Given the description of an element on the screen output the (x, y) to click on. 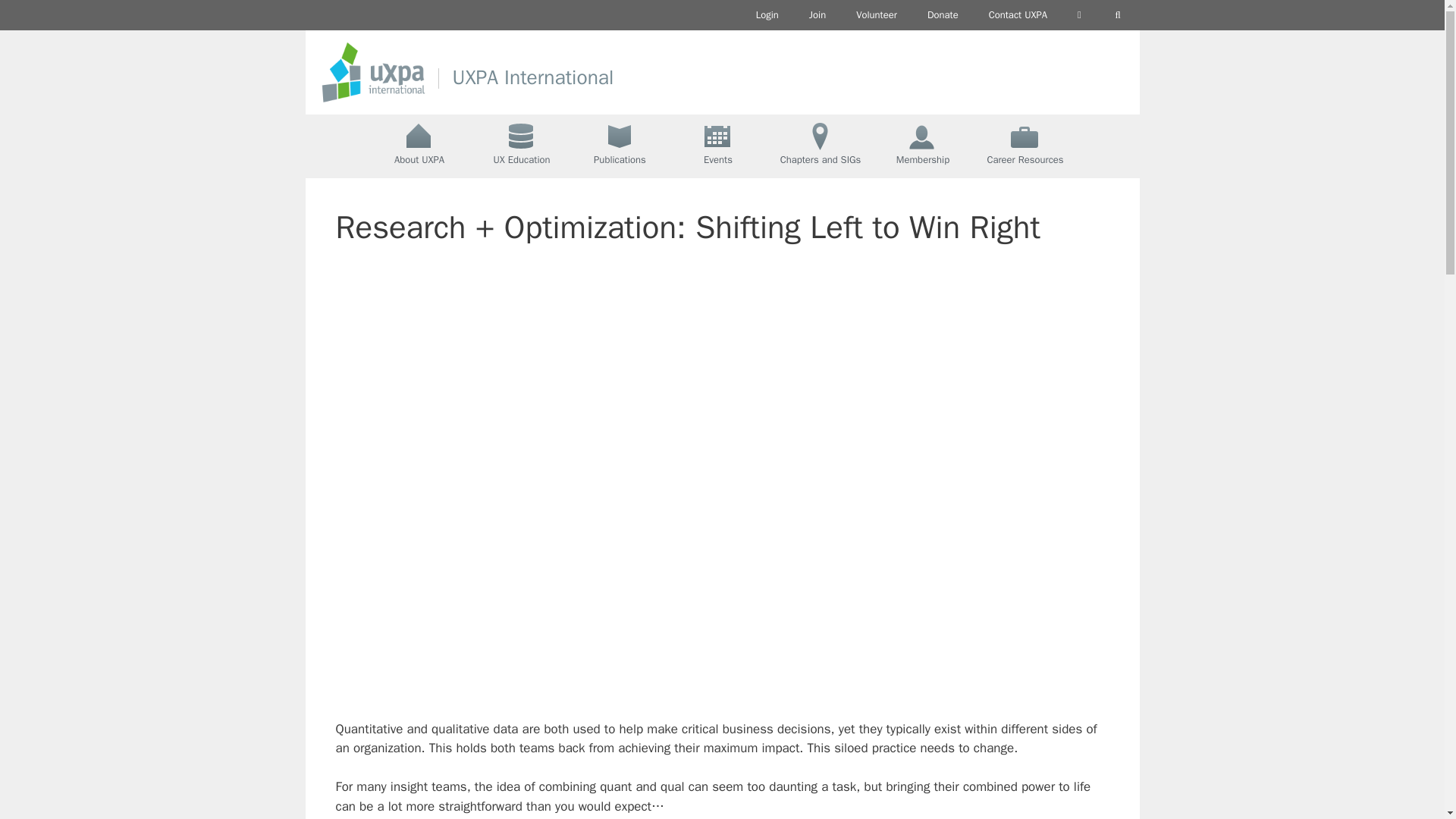
Contact UXPA (1018, 15)
Login (767, 15)
Search (1118, 15)
About UXPA (419, 145)
Search (1118, 15)
Volunteer (876, 15)
Publications (619, 145)
UXPA International (531, 77)
Donate (943, 15)
Events (718, 145)
View your shopping cart (1079, 15)
UX Education (521, 145)
Join (817, 15)
